Given the description of an element on the screen output the (x, y) to click on. 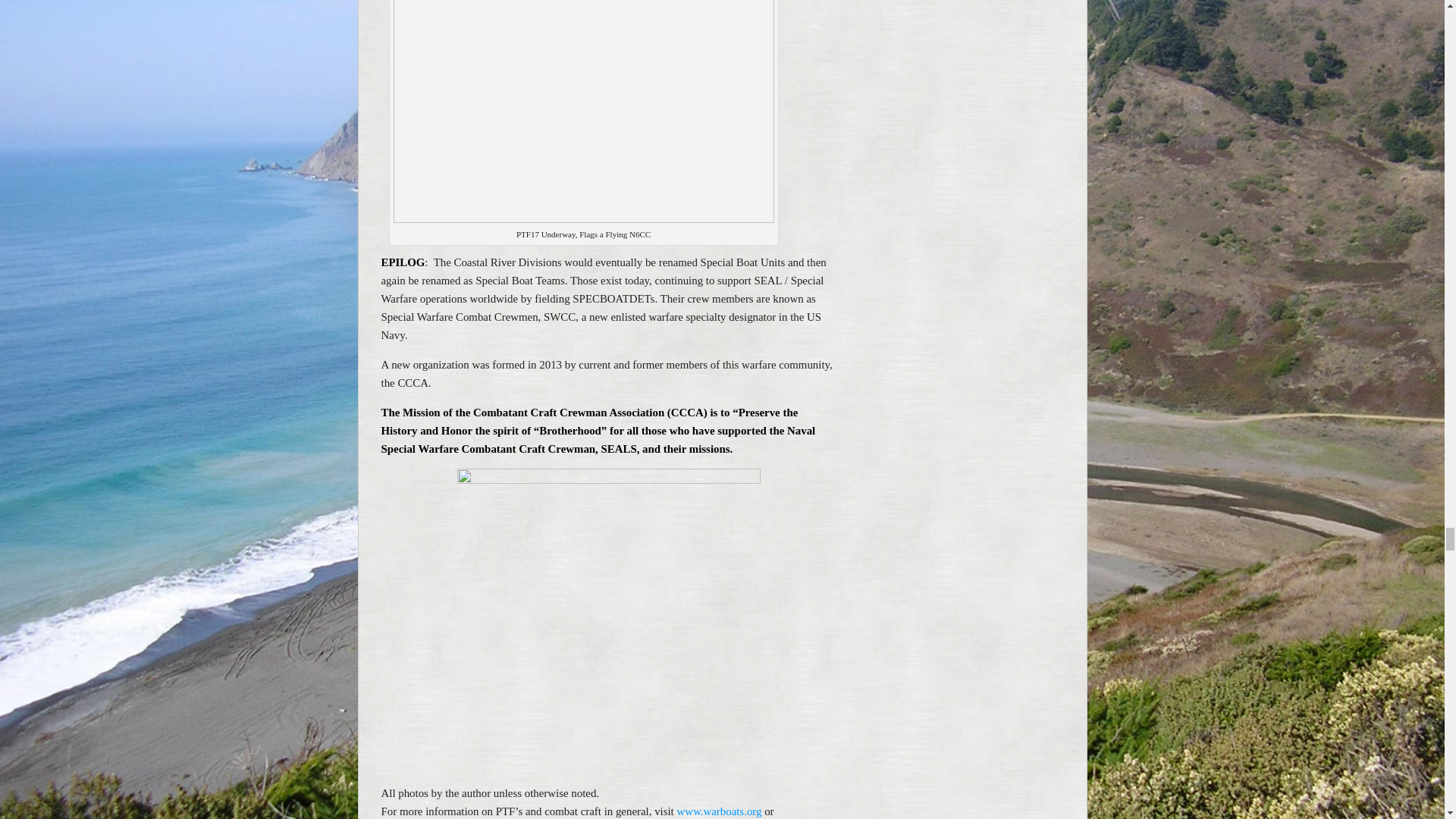
www.warboats.org (719, 811)
